Given the description of an element on the screen output the (x, y) to click on. 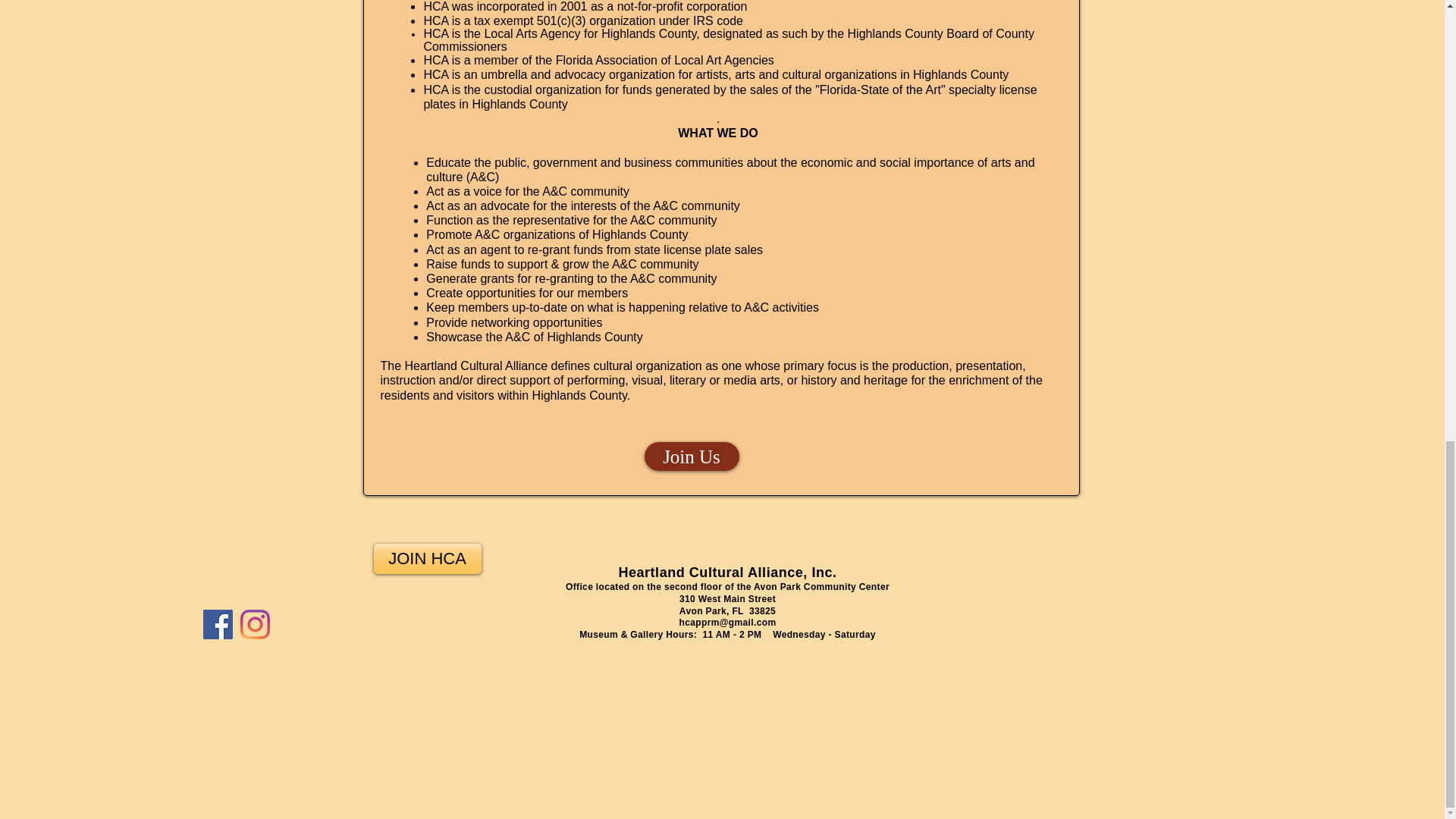
Join Us (692, 456)
JOIN HCA (426, 558)
